Given the description of an element on the screen output the (x, y) to click on. 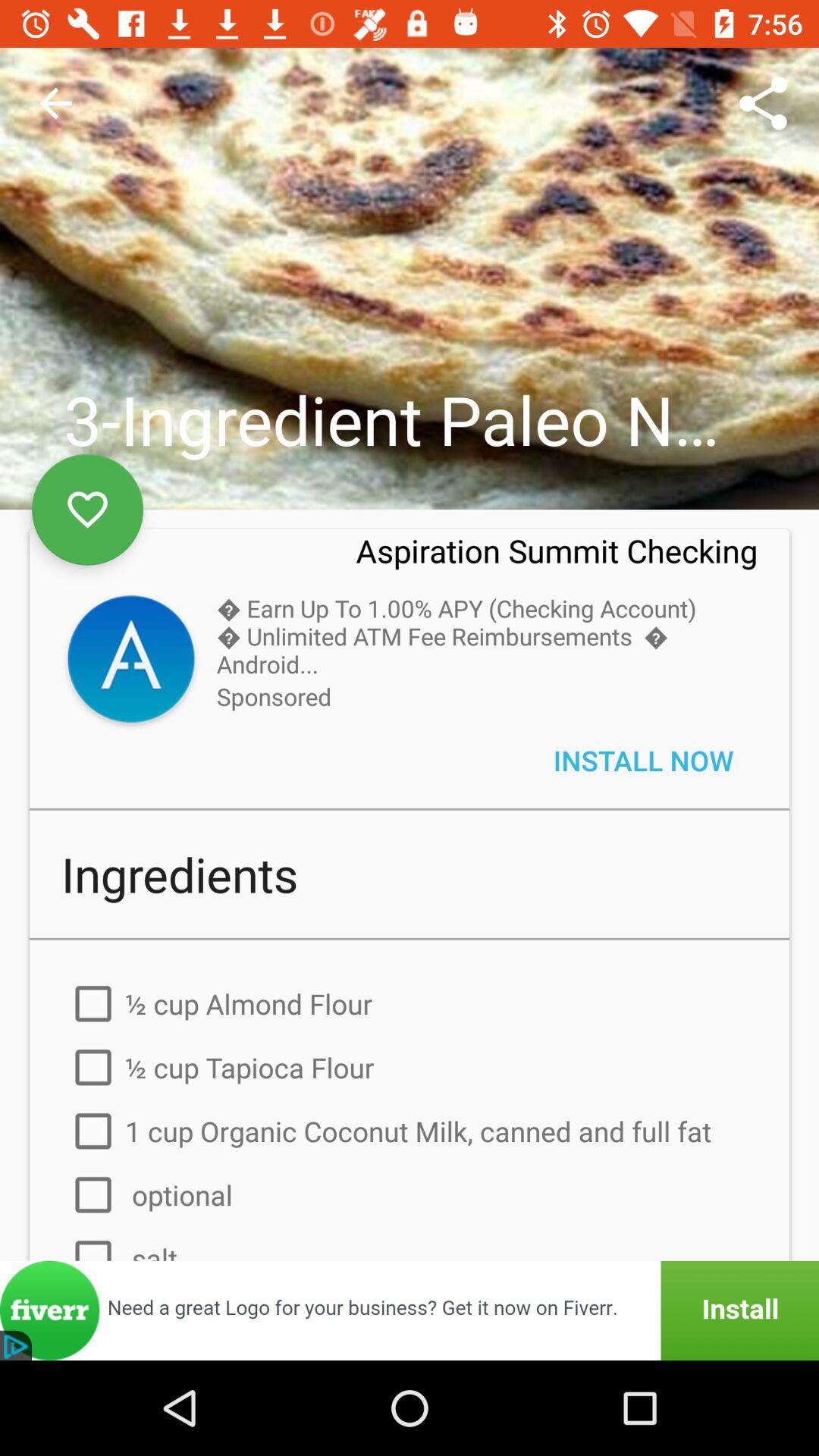
like recipe (87, 509)
